Given the description of an element on the screen output the (x, y) to click on. 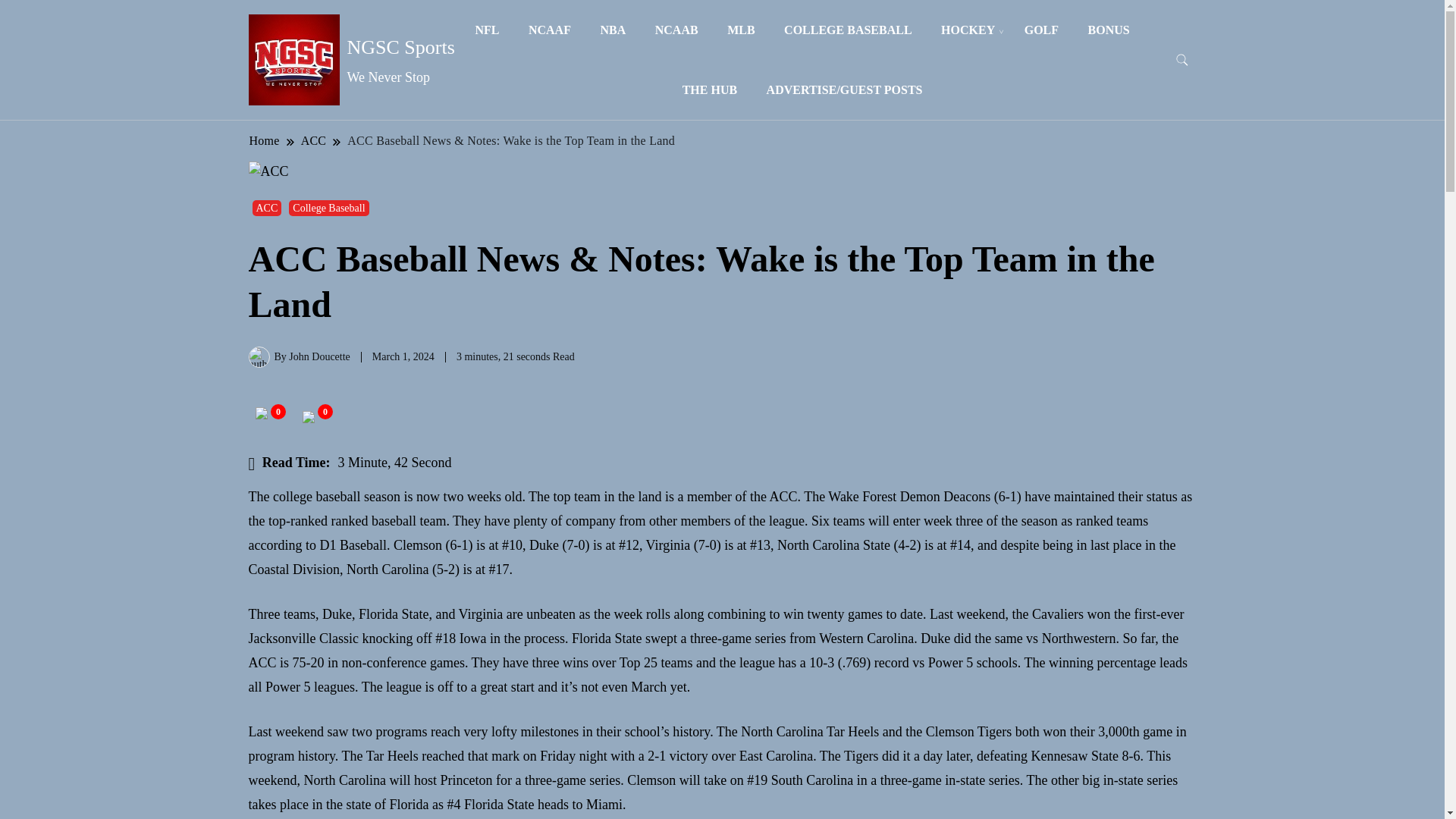
NCAAB (676, 29)
BONUS (1108, 29)
HOCKEY (967, 29)
COLLEGE BASEBALL (847, 29)
NGSC Sports (400, 47)
NCAAF (549, 29)
GOLF (1041, 29)
THE HUB (709, 89)
